Given the description of an element on the screen output the (x, y) to click on. 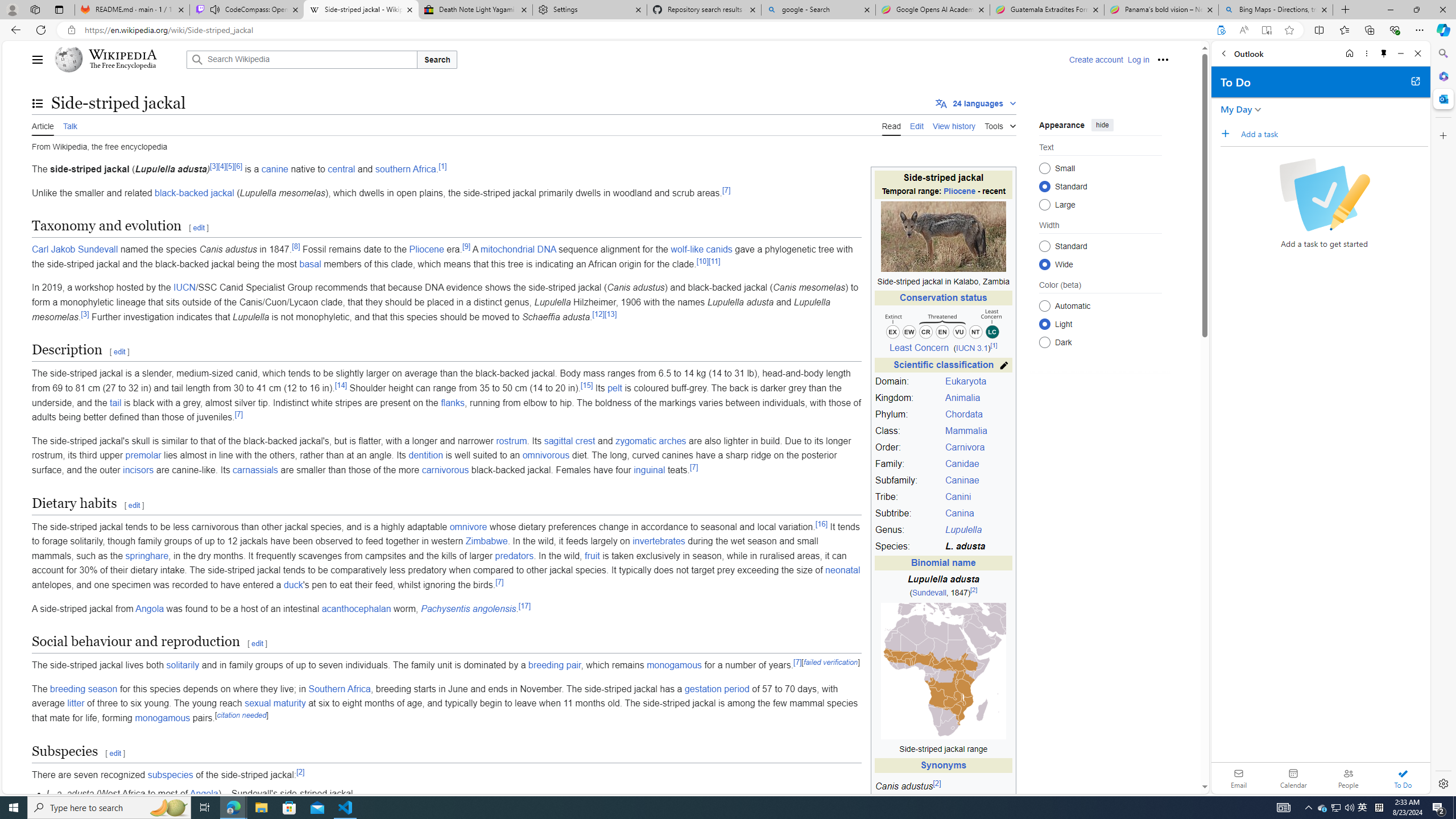
Edit this classification (1004, 365)
citation needed (241, 714)
Mammalia (965, 430)
Create account (1095, 58)
To Do (1402, 777)
Side-striped jackal Temporal range: Pliocene - recent (942, 184)
zygomatic arches (650, 440)
duck (292, 584)
Caninae (977, 480)
[6] (237, 165)
Sundevall (928, 592)
Chordata (977, 414)
